Given the description of an element on the screen output the (x, y) to click on. 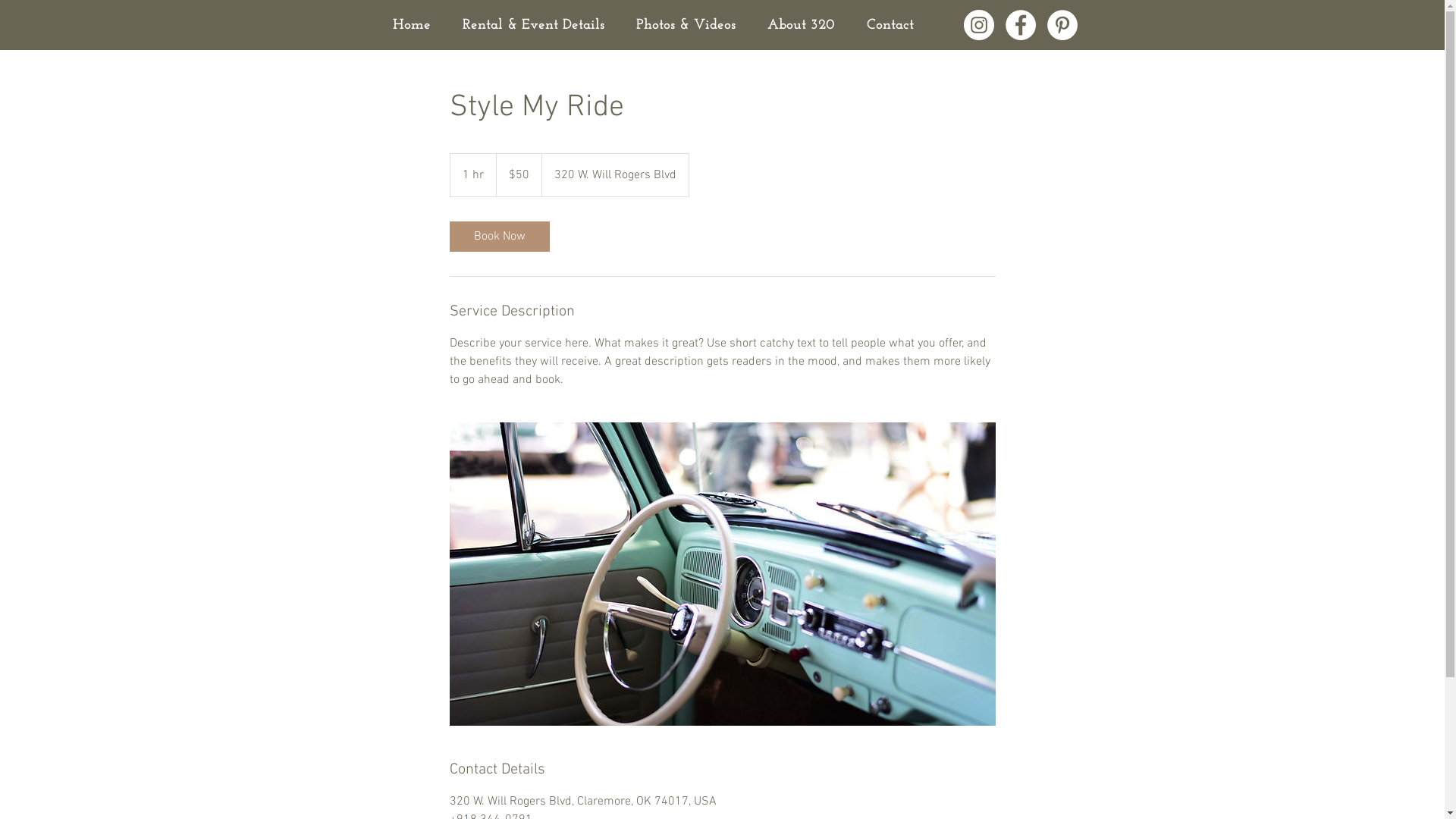
Home Element type: text (410, 24)
Book Now Element type: text (498, 236)
Photos & Videos Element type: text (685, 24)
Rental & Event Details Element type: text (532, 24)
About 320 Element type: text (800, 24)
Contact Element type: text (889, 24)
